Given the description of an element on the screen output the (x, y) to click on. 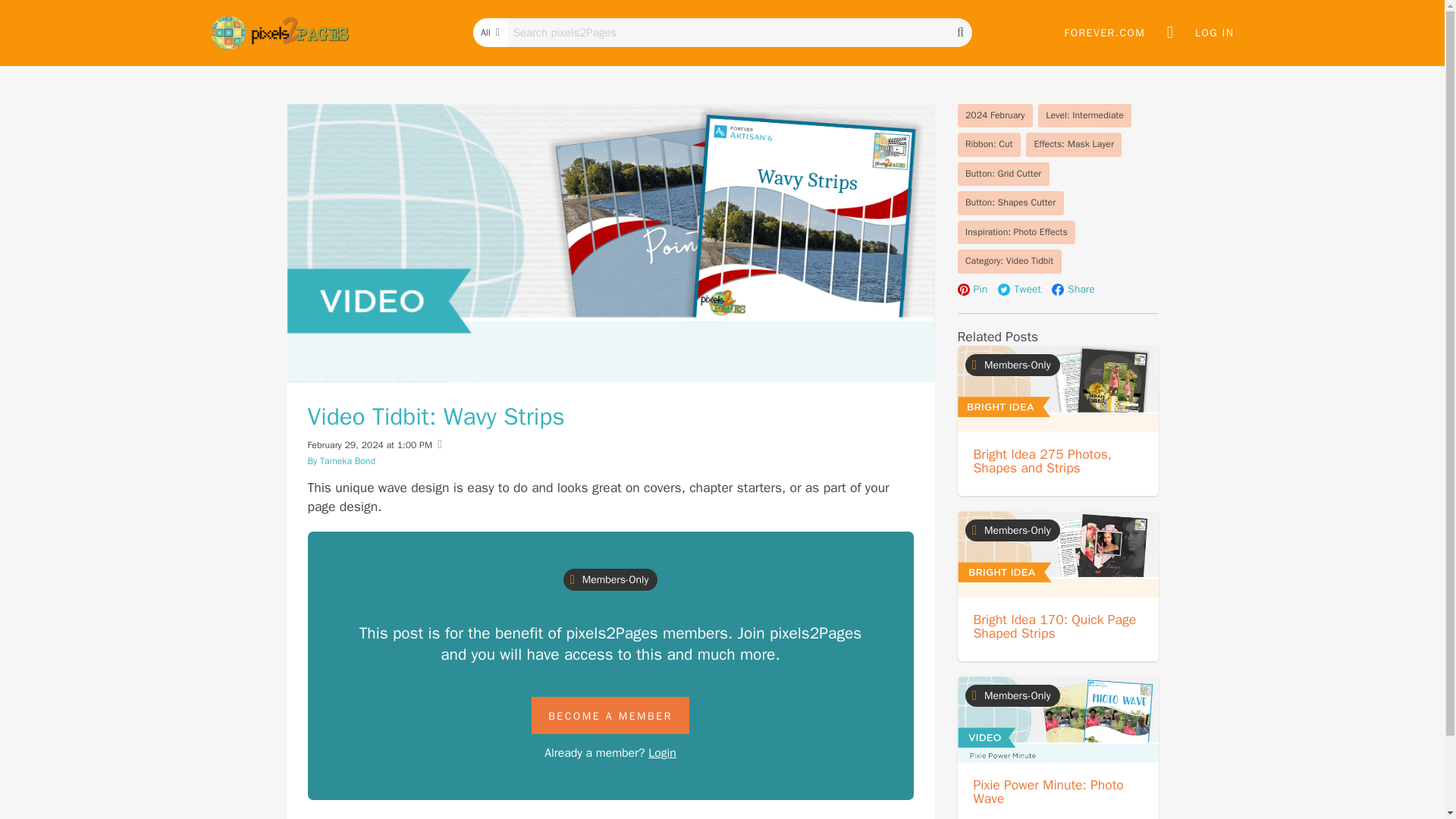
2024 February (994, 115)
FOREVER.COM (1105, 32)
Pixie Power Minute: Photo Wave (1049, 791)
Login (662, 752)
Pin (971, 289)
Share (1072, 289)
Button: Shapes Cutter (1009, 202)
Category: Video Tidbit (1008, 261)
BECOME A MEMBER (609, 714)
Back to pixels2Pages Home (280, 33)
